Given the description of an element on the screen output the (x, y) to click on. 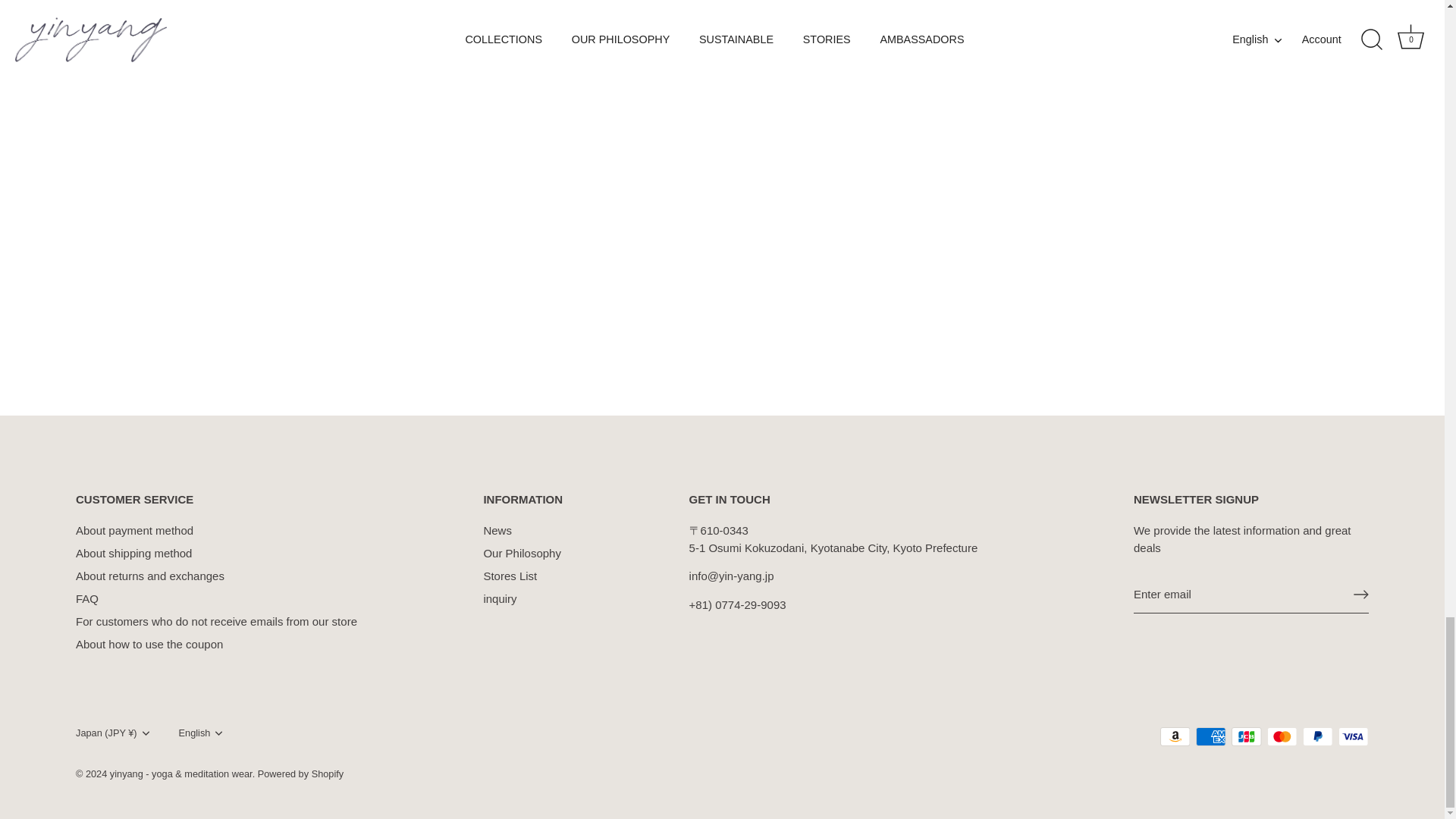
Right arrow long (1361, 594)
Amazon (1174, 736)
PayPal (1317, 736)
JCB (1245, 736)
Mastercard (1281, 736)
American Express (1210, 736)
Visa (1353, 736)
